Given the description of an element on the screen output the (x, y) to click on. 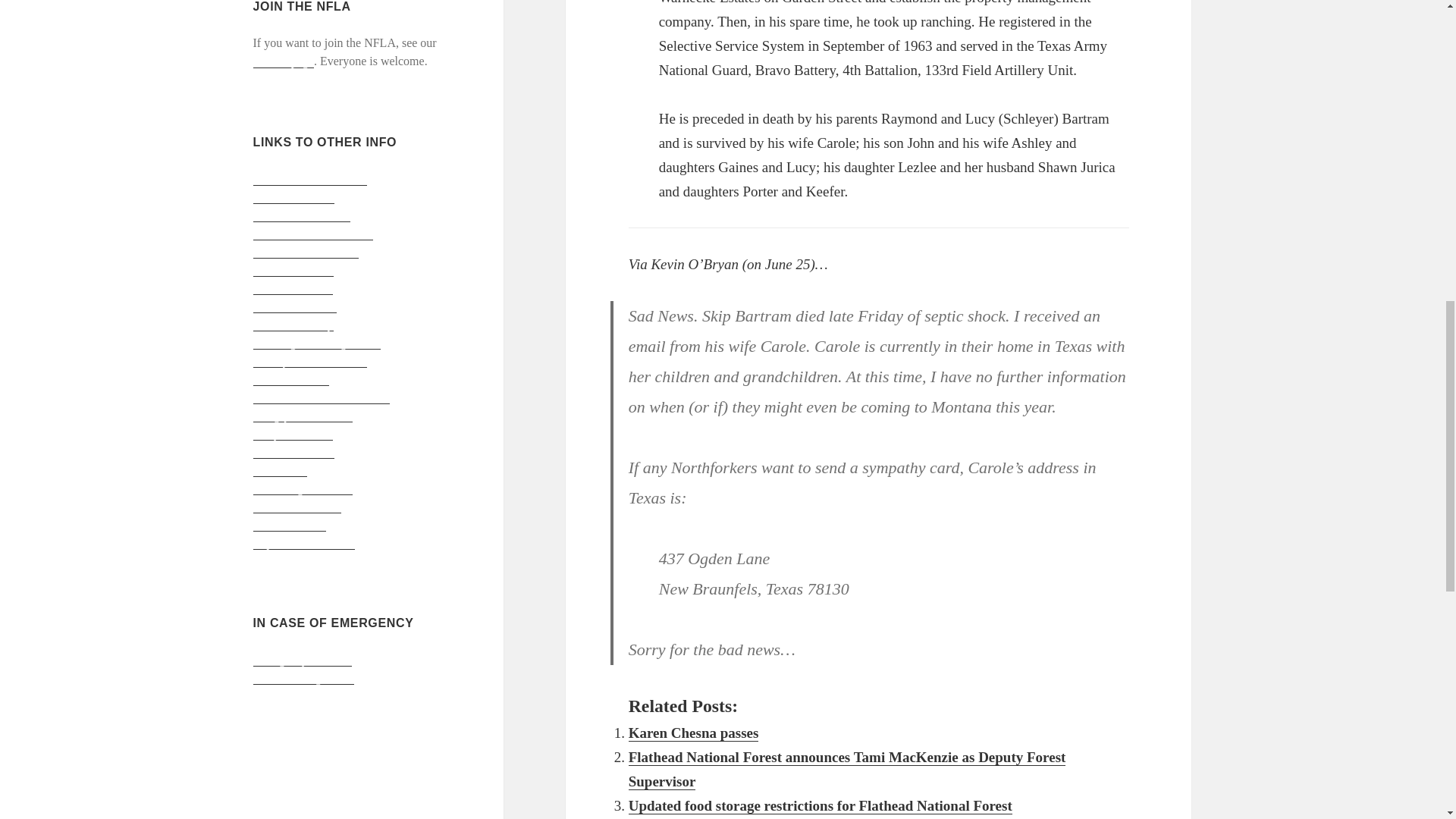
Sen. Jon Tester (289, 524)
Flathead Basin Commission (321, 397)
Sen. Steve Daines (296, 506)
Montana DNRC (293, 287)
NF Trails Assoc. (293, 196)
NF Preservation Assoc. (310, 178)
contact page (283, 60)
Karen Chesna passes (693, 733)
Hungry Horse News (303, 415)
